Given the description of an element on the screen output the (x, y) to click on. 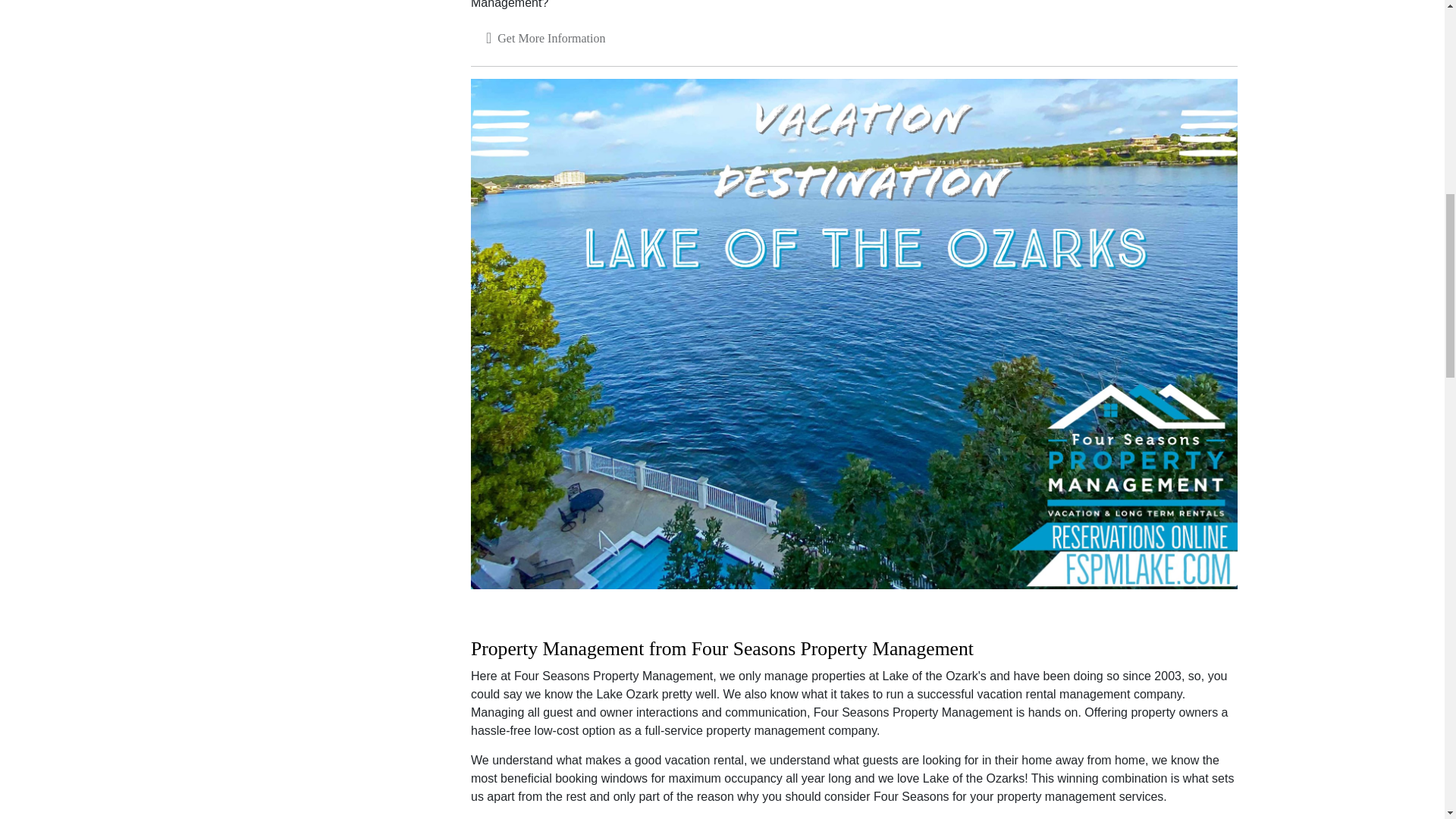
 Get More Information (545, 38)
